Given the description of an element on the screen output the (x, y) to click on. 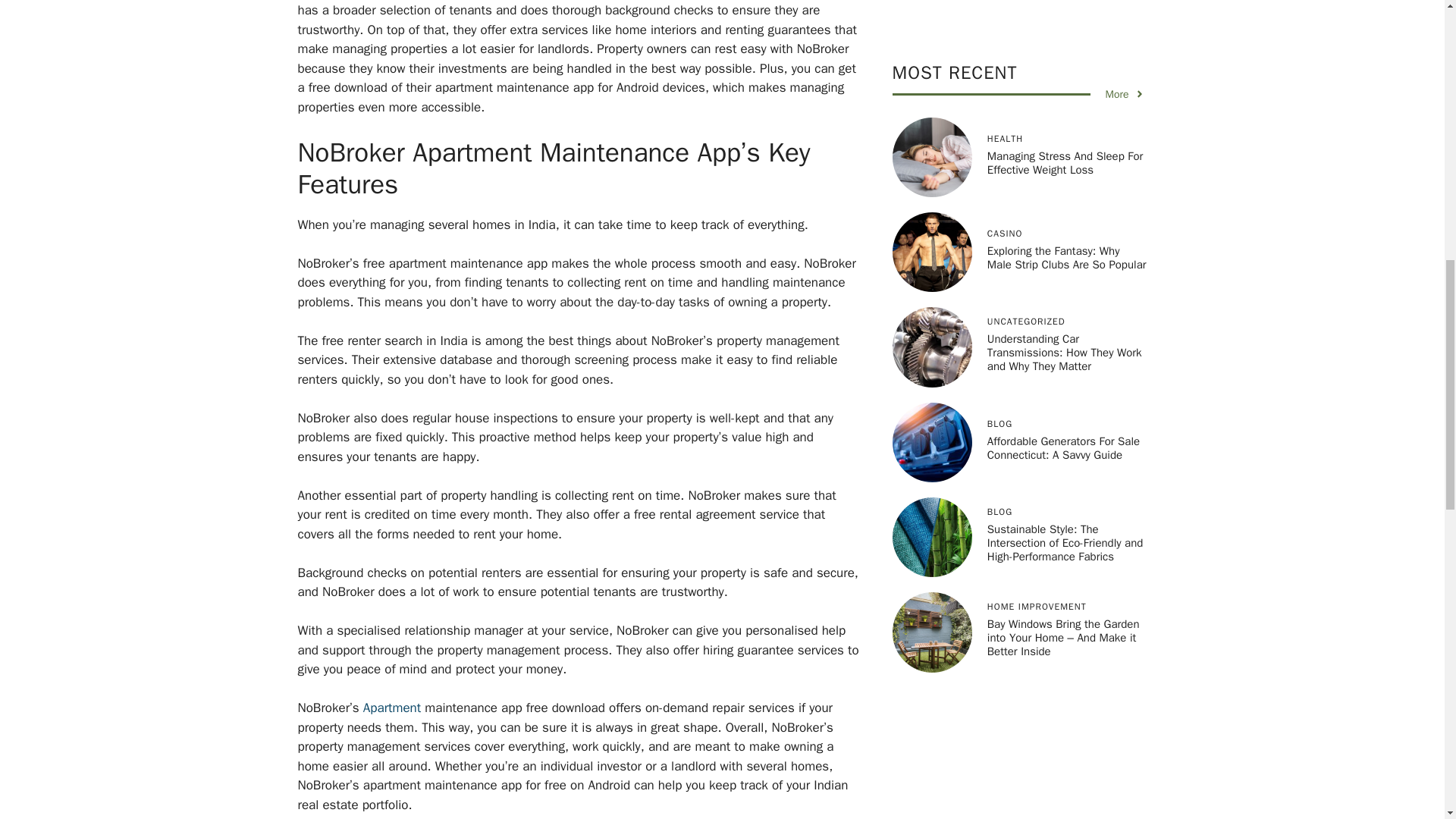
Affordable Generators For Sale Connecticut: A Savvy Guide (1063, 38)
Apartment (391, 707)
